Given the description of an element on the screen output the (x, y) to click on. 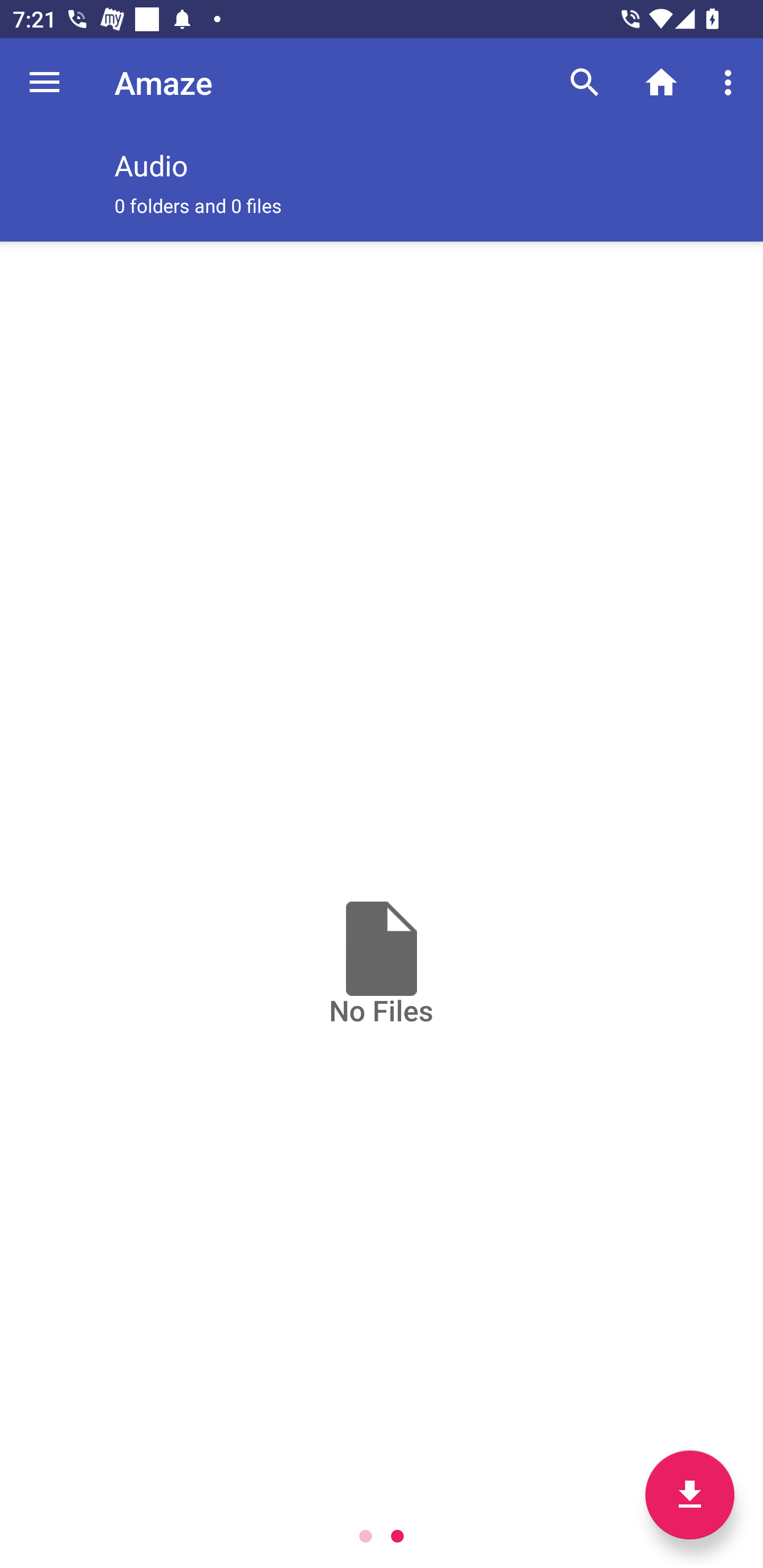
Navigate up (44, 82)
Search (585, 81)
Home (661, 81)
More options (731, 81)
